Given the description of an element on the screen output the (x, y) to click on. 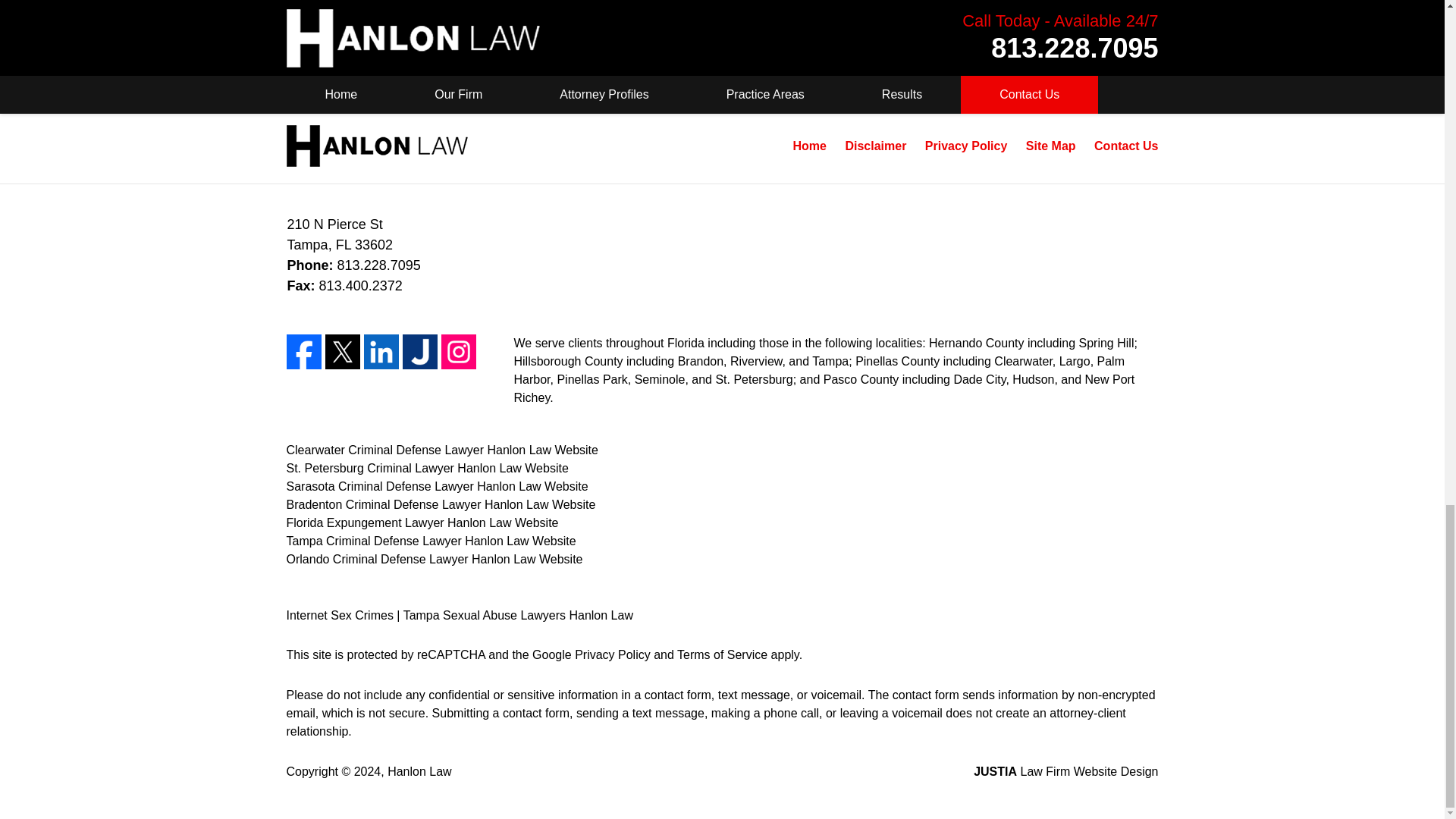
Facebook (303, 351)
Instagram (458, 351)
Justia (418, 351)
Contact Attorney Hanlon online (388, 18)
Twitter (341, 351)
LinkedIn (381, 351)
